Given the description of an element on the screen output the (x, y) to click on. 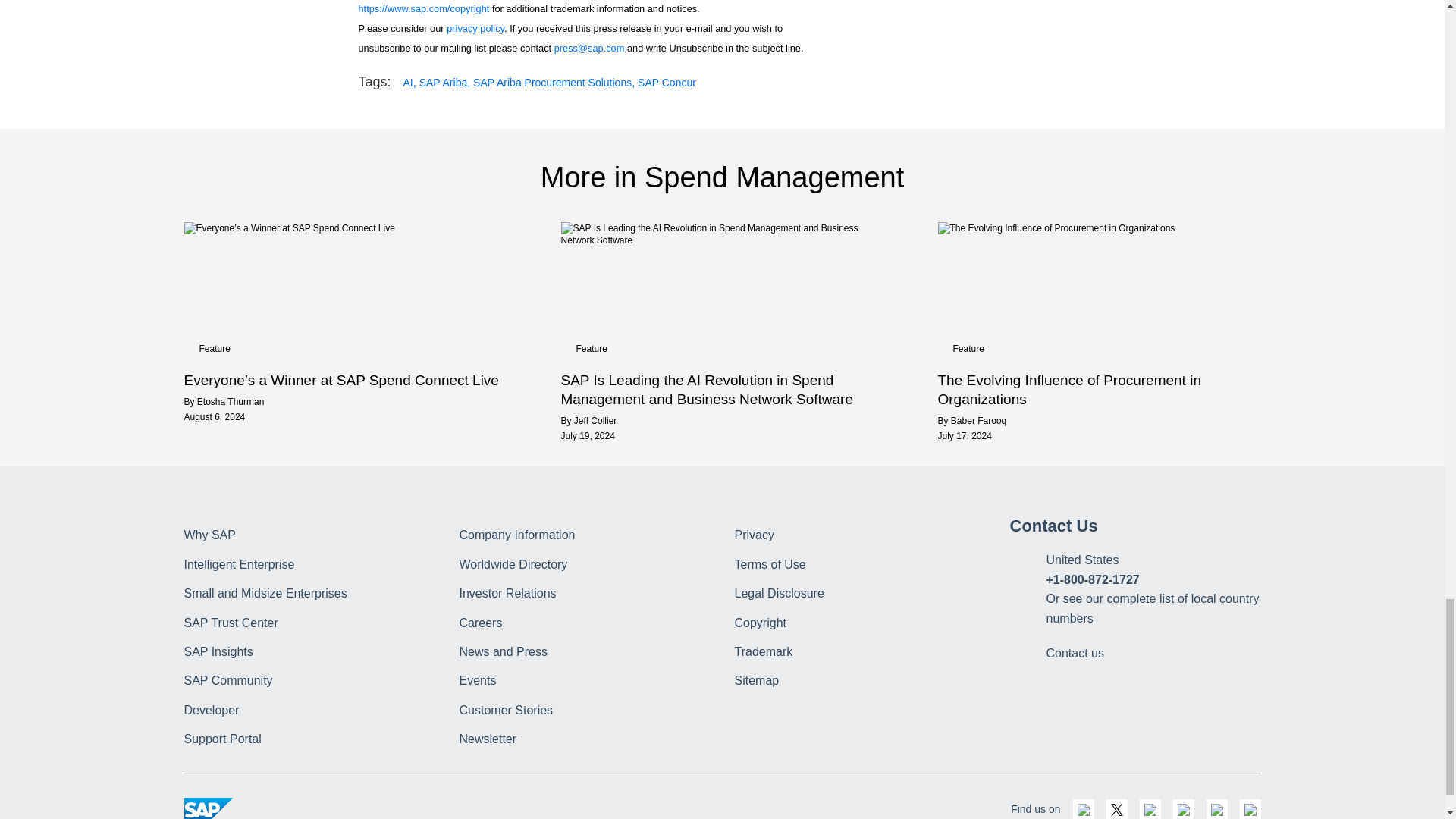
Posts by Etosha Thurman (230, 401)
privacy policy (474, 28)
Posts by Baber Farooq (978, 420)
Posts by Jeff Collier (594, 420)
Etosha Thurman (230, 401)
Feature (214, 348)
SAP Ariba Procurement Solutions (553, 83)
SAP Ariba (444, 83)
SAP Concur (666, 83)
